Given the description of an element on the screen output the (x, y) to click on. 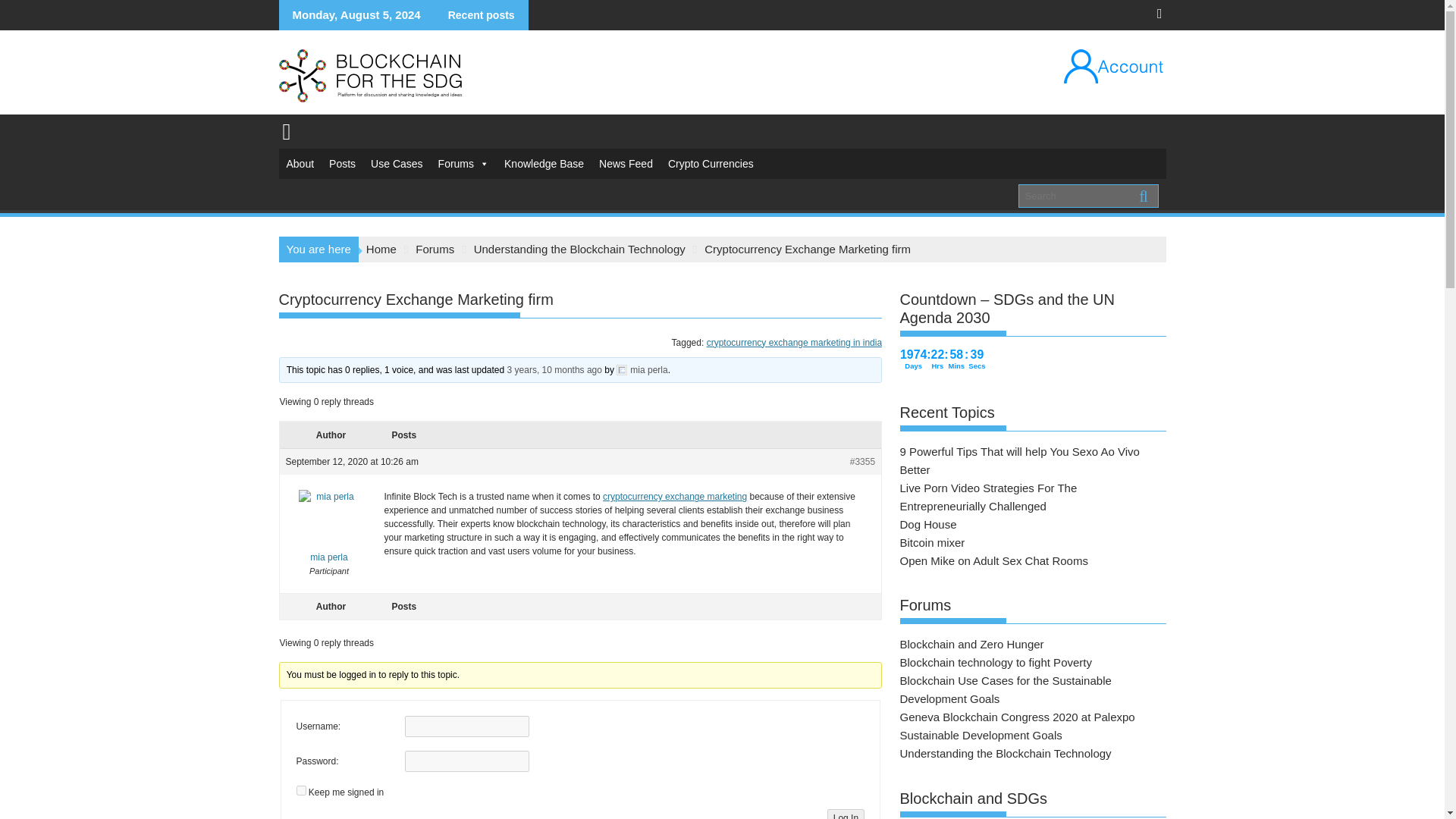
3 years, 10 months ago (554, 368)
Home (381, 248)
Cryptocurrency Exchange Marketing firm (554, 368)
Blockchain and Zero Hunger (971, 644)
cryptocurrency exchange marketing in india (794, 341)
mia perla (328, 527)
Geneva Blockchain Congress 2020 at Palexpo (1016, 716)
mia perla (640, 368)
View mia perla's profile (640, 368)
Open Mike on Adult Sex Chat Rooms (993, 559)
9 Powerful Tips That will help You Sexo Ao Vivo Better (1018, 459)
About (300, 163)
View mia perla's profile (328, 527)
Sustainable Development Goals (980, 735)
